Given the description of an element on the screen output the (x, y) to click on. 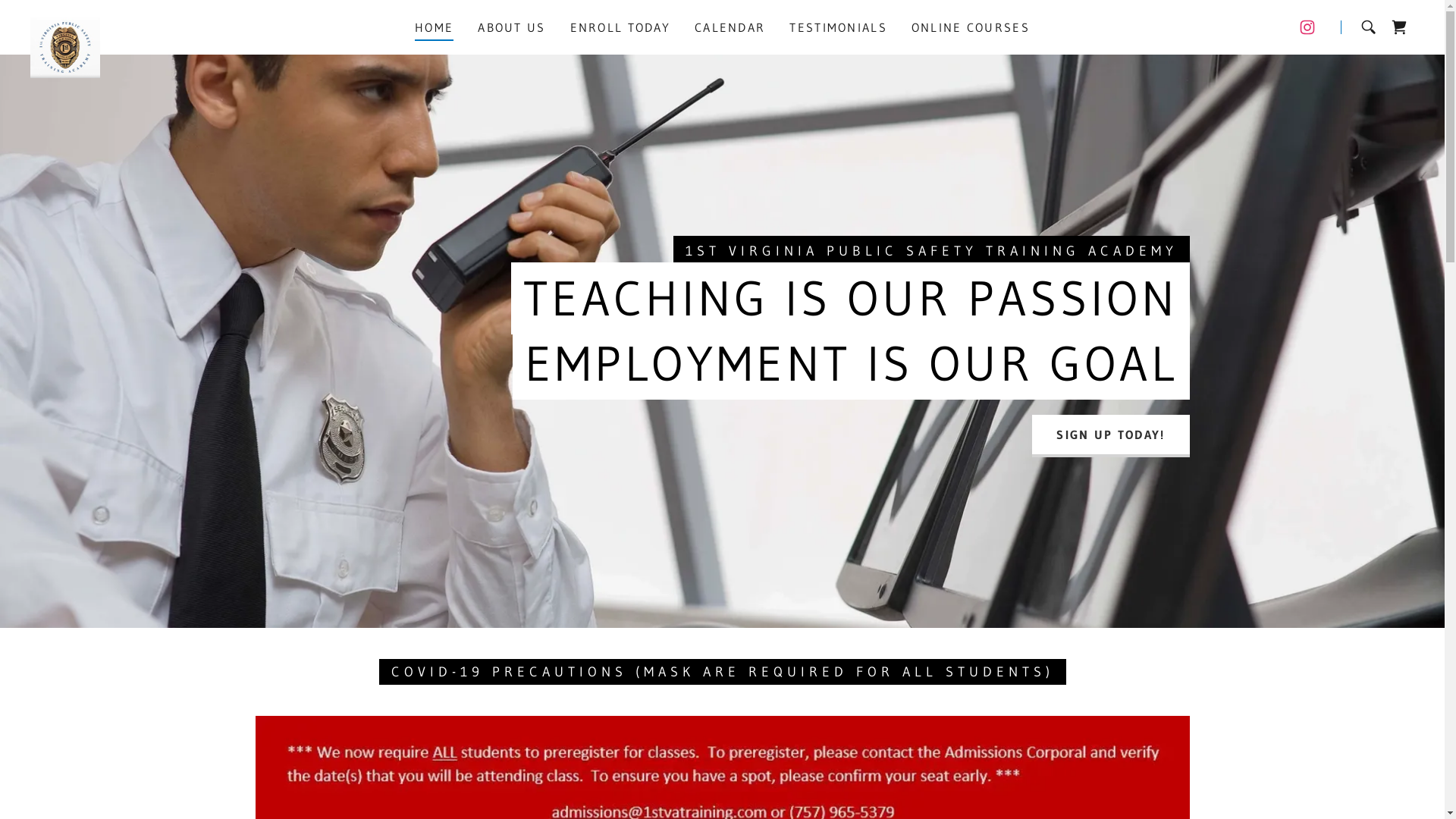
CALENDAR Element type: text (729, 26)
1st Virginia Public Safety Training Academy Element type: hover (65, 24)
ENROLL TODAY Element type: text (619, 26)
ONLINE COURSES Element type: text (970, 26)
HOME Element type: text (433, 29)
SIGN UP TODAY! Element type: text (1110, 435)
TESTIMONIALS Element type: text (837, 26)
ABOUT US Element type: text (511, 26)
